Given the description of an element on the screen output the (x, y) to click on. 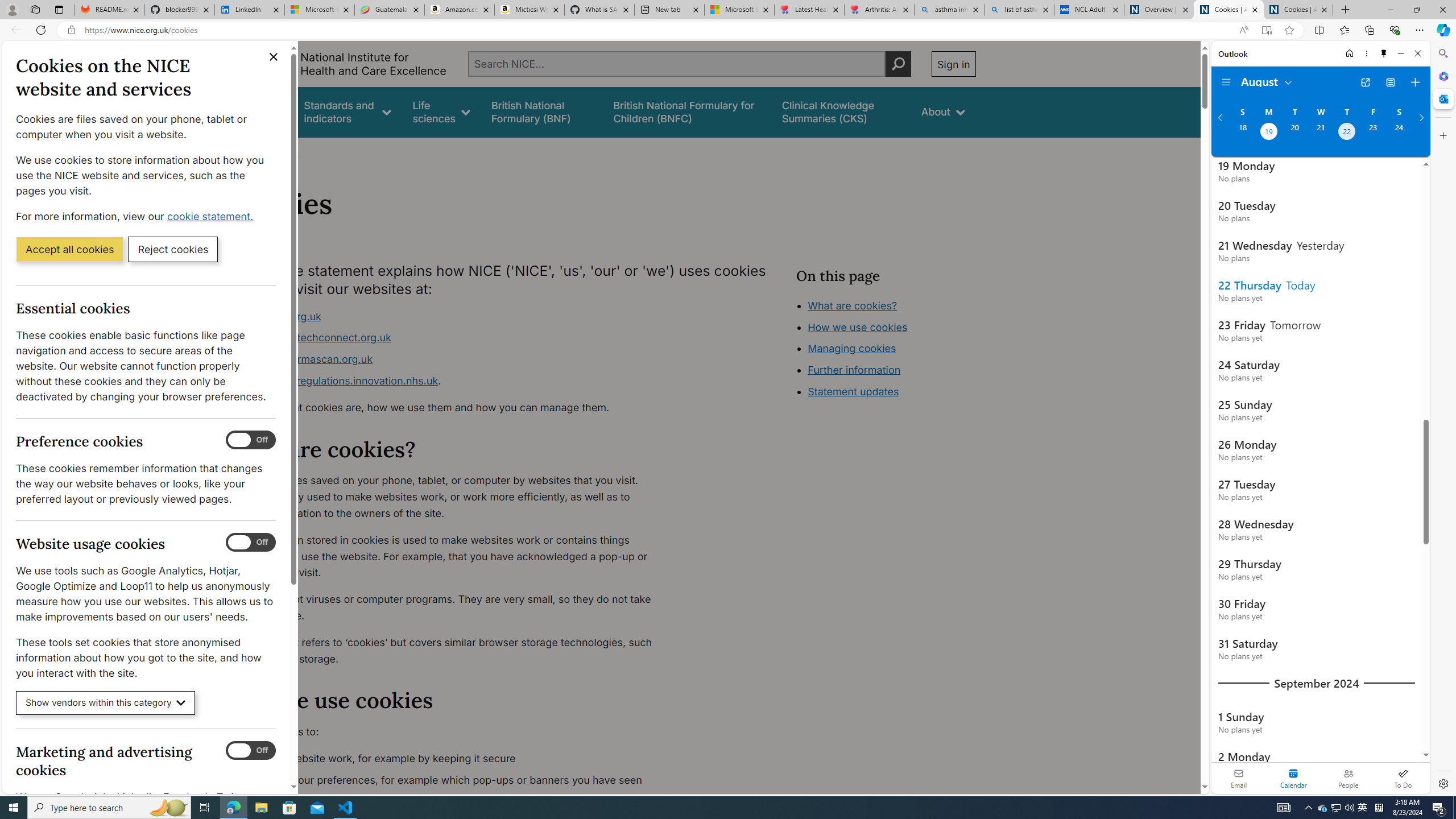
Managing cookies (852, 348)
How we use cookies (896, 389)
Tuesday, August 20, 2024.  (1294, 132)
Website usage cookies (250, 542)
